Given the description of an element on the screen output the (x, y) to click on. 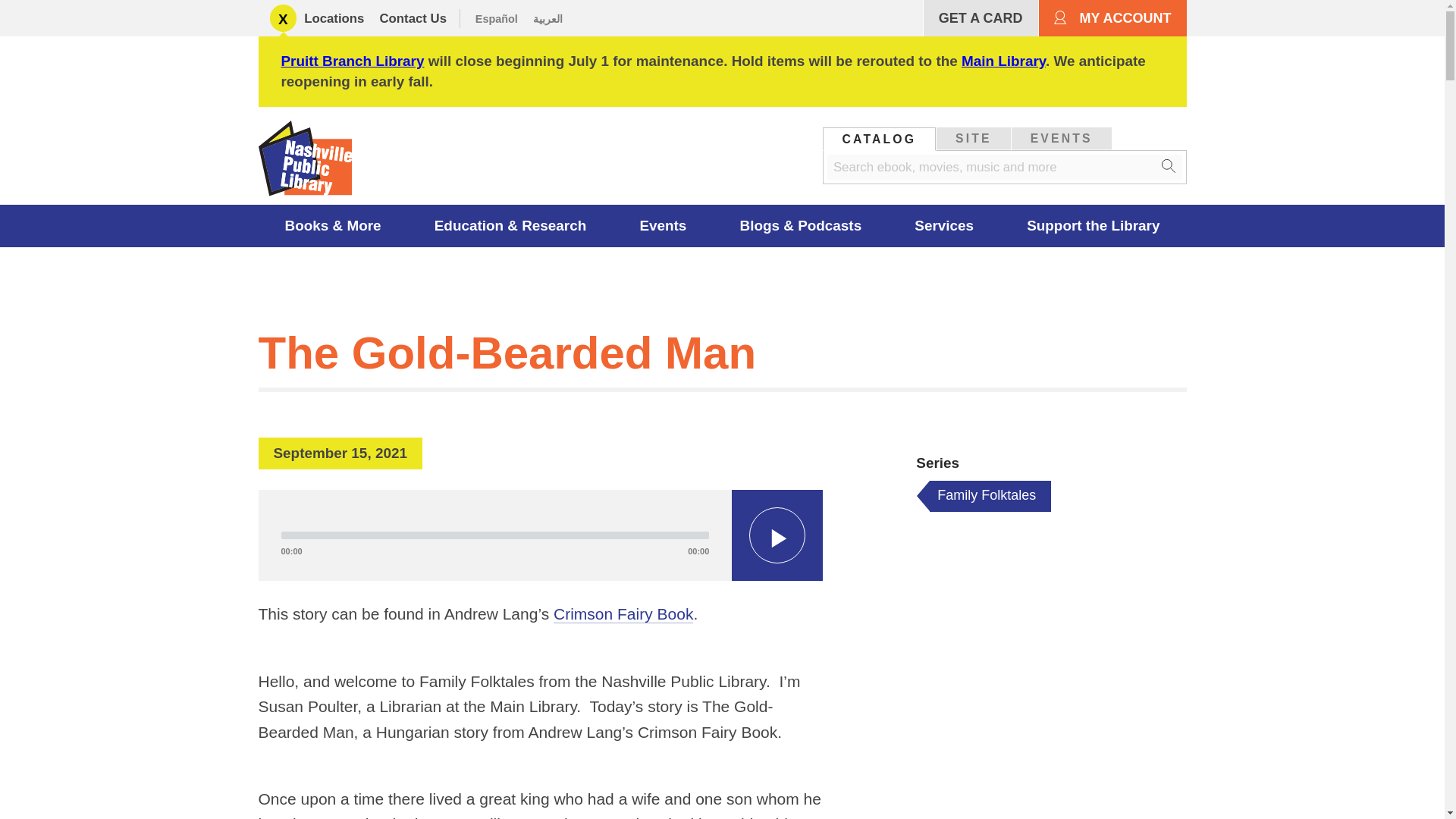
Pruitt Branch Library (352, 60)
Toggle alerts (283, 17)
Services (944, 226)
MY ACCOUNT (1112, 18)
EVENTS (1061, 138)
GET A CARD (980, 18)
Search (1168, 166)
Search (1168, 166)
Events (662, 226)
Home (309, 161)
SITE (973, 138)
Contact Us (412, 18)
Locations (334, 18)
Support the Library (1093, 226)
